Given the description of an element on the screen output the (x, y) to click on. 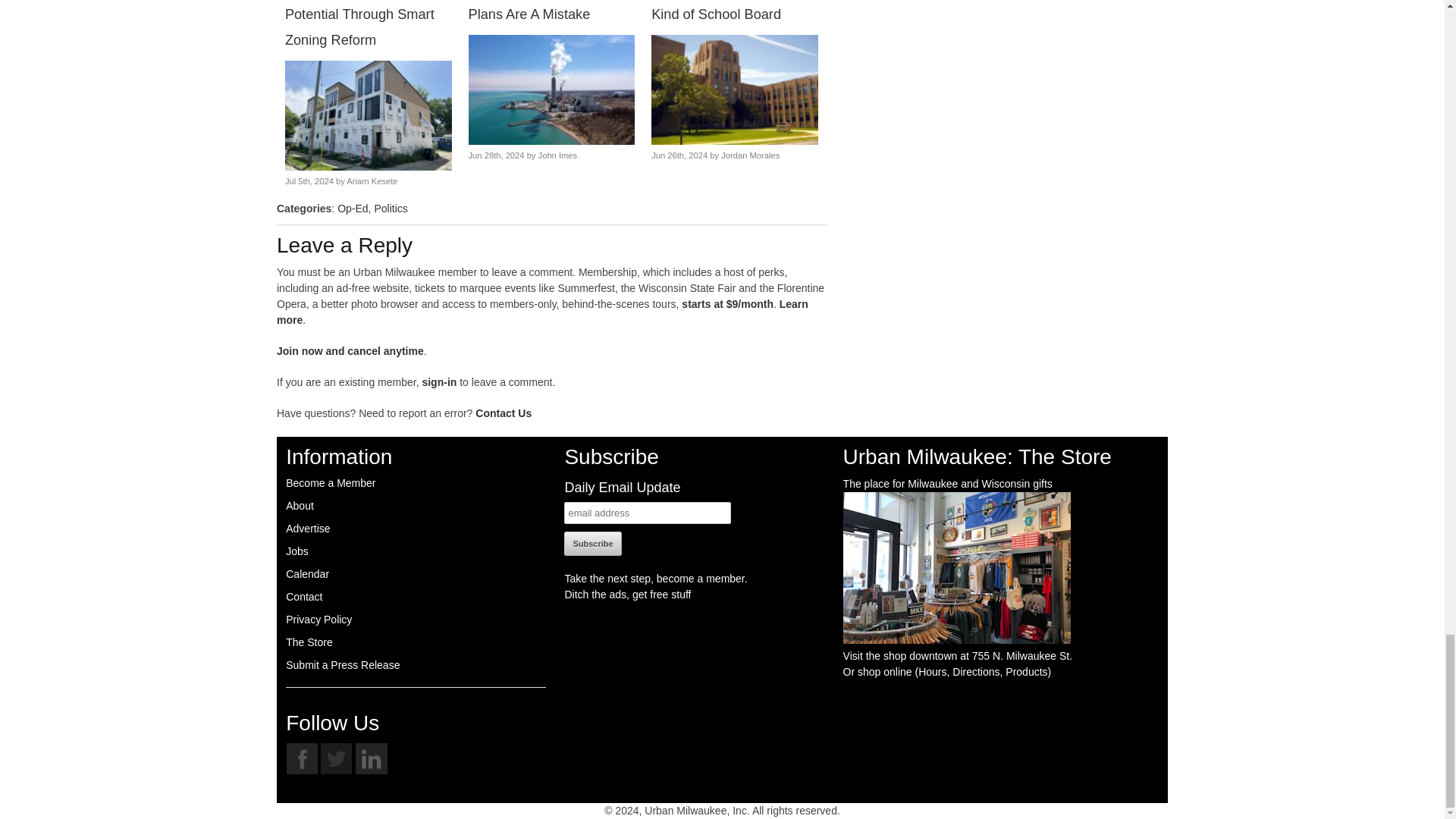
Op-Ed (352, 208)
Politics (390, 208)
Subscribe (592, 543)
